Given the description of an element on the screen output the (x, y) to click on. 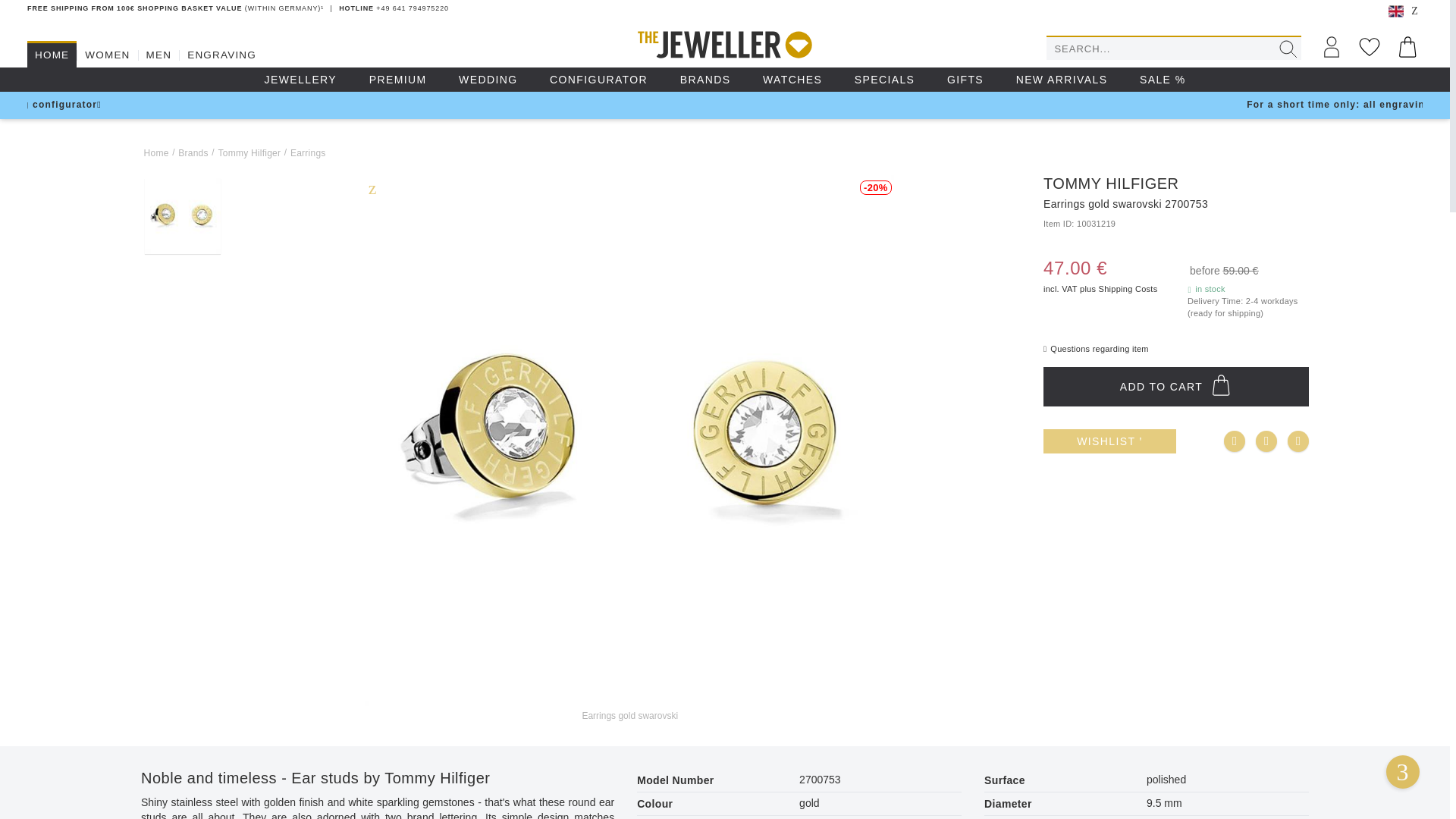
Brands (192, 152)
My Account (1331, 47)
Tommy Hilfiger (249, 152)
Wishlist (1369, 47)
Earrings (307, 152)
